Given the description of an element on the screen output the (x, y) to click on. 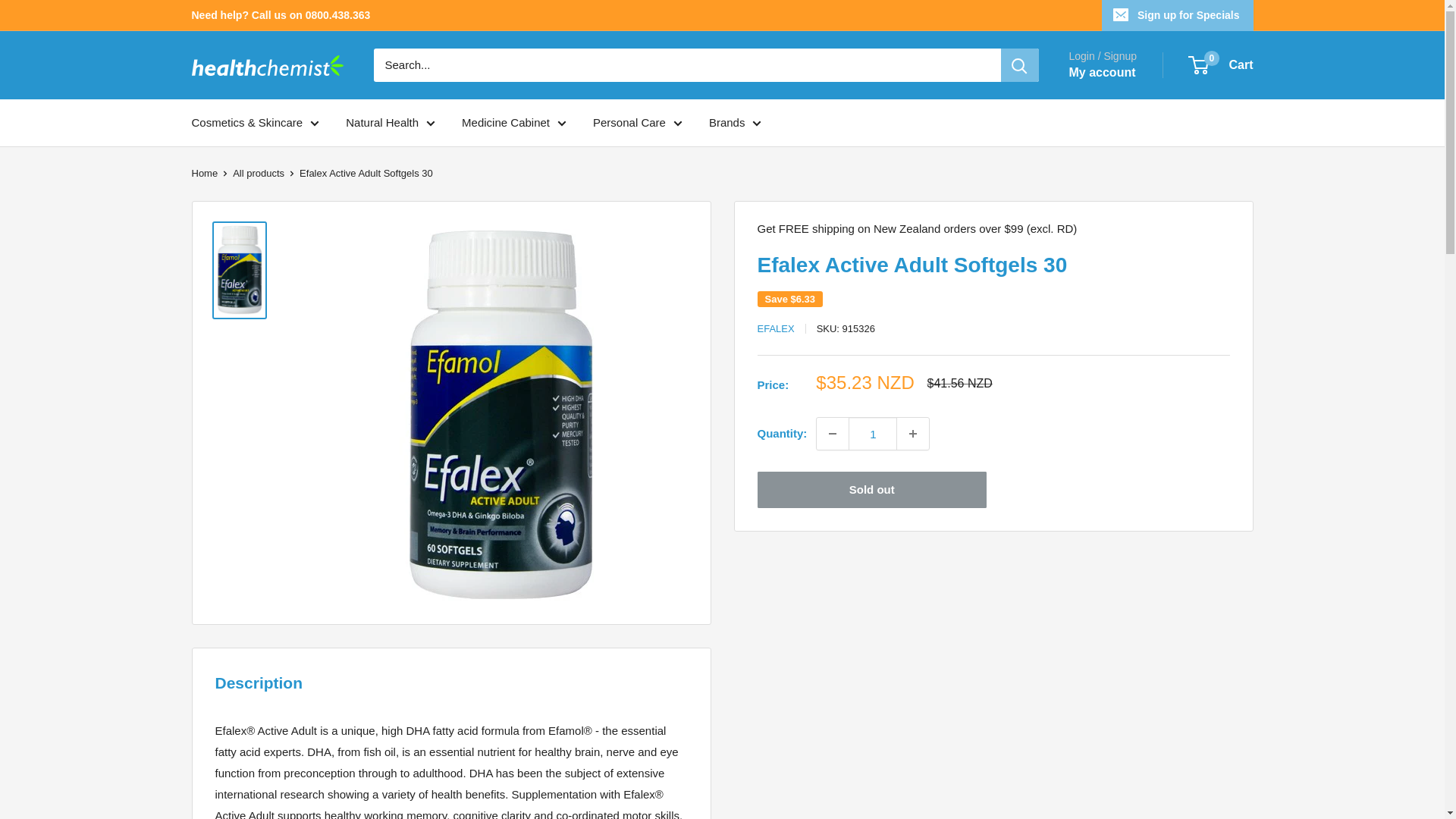
Need help? Call us on 0800.438.363 (279, 15)
Decrease quantity by 1 (832, 433)
1 (872, 433)
Sign up for Specials (1177, 15)
Increase quantity by 1 (912, 433)
